Given the description of an element on the screen output the (x, y) to click on. 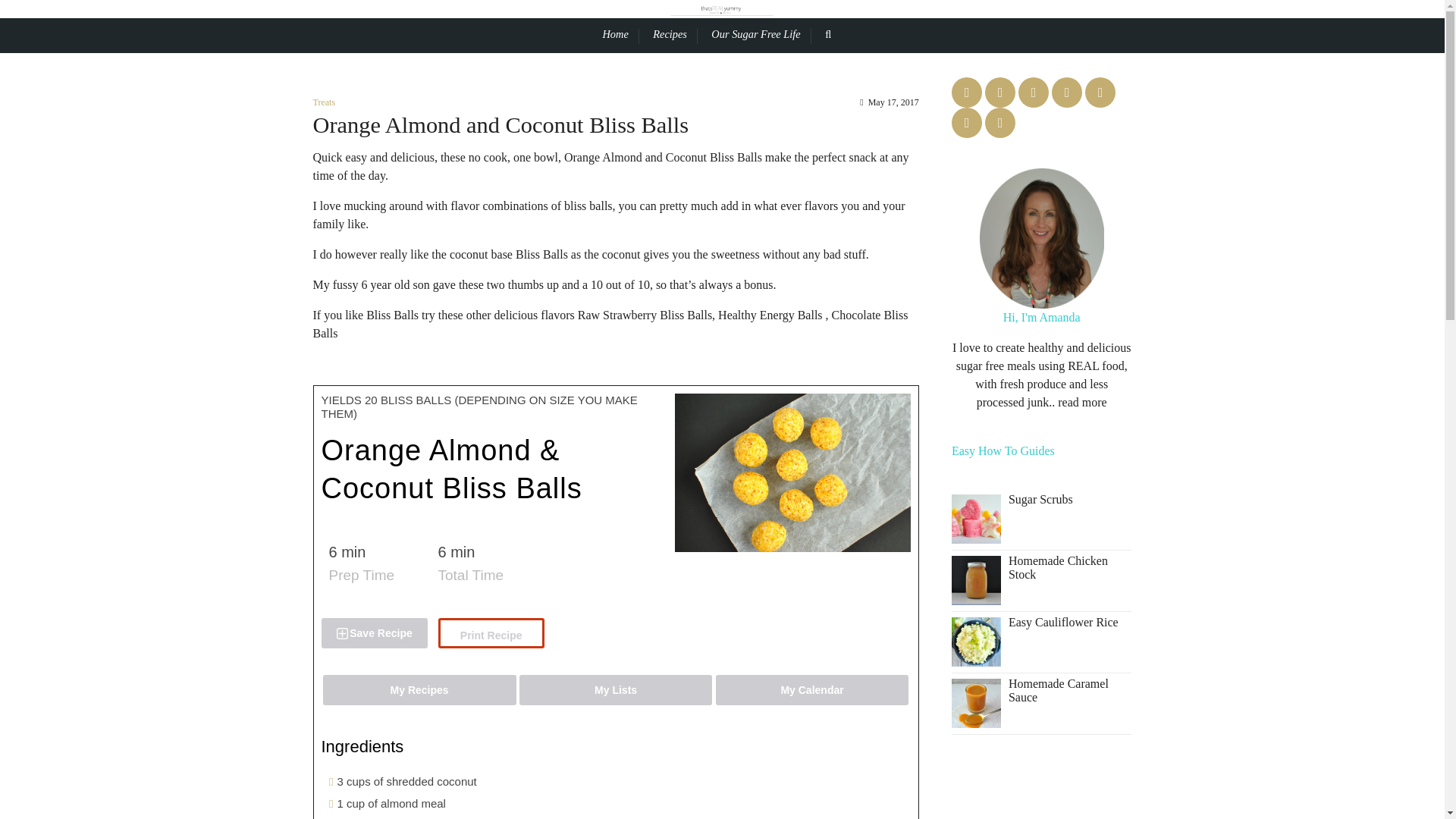
My Calendar (812, 689)
Print this recipe (491, 633)
Raw Strawberry Bliss Balls, (646, 314)
Chocolate Bliss Balls (610, 323)
My Lists (616, 689)
May 17, 2017 (889, 102)
My Recipes (419, 689)
Home (620, 35)
Save Recipe to Mealplannerpro.com (374, 633)
Healthy Energy Balls (769, 314)
Recipes (674, 35)
Our Sugar Free Life (760, 35)
Treats (323, 102)
